Given the description of an element on the screen output the (x, y) to click on. 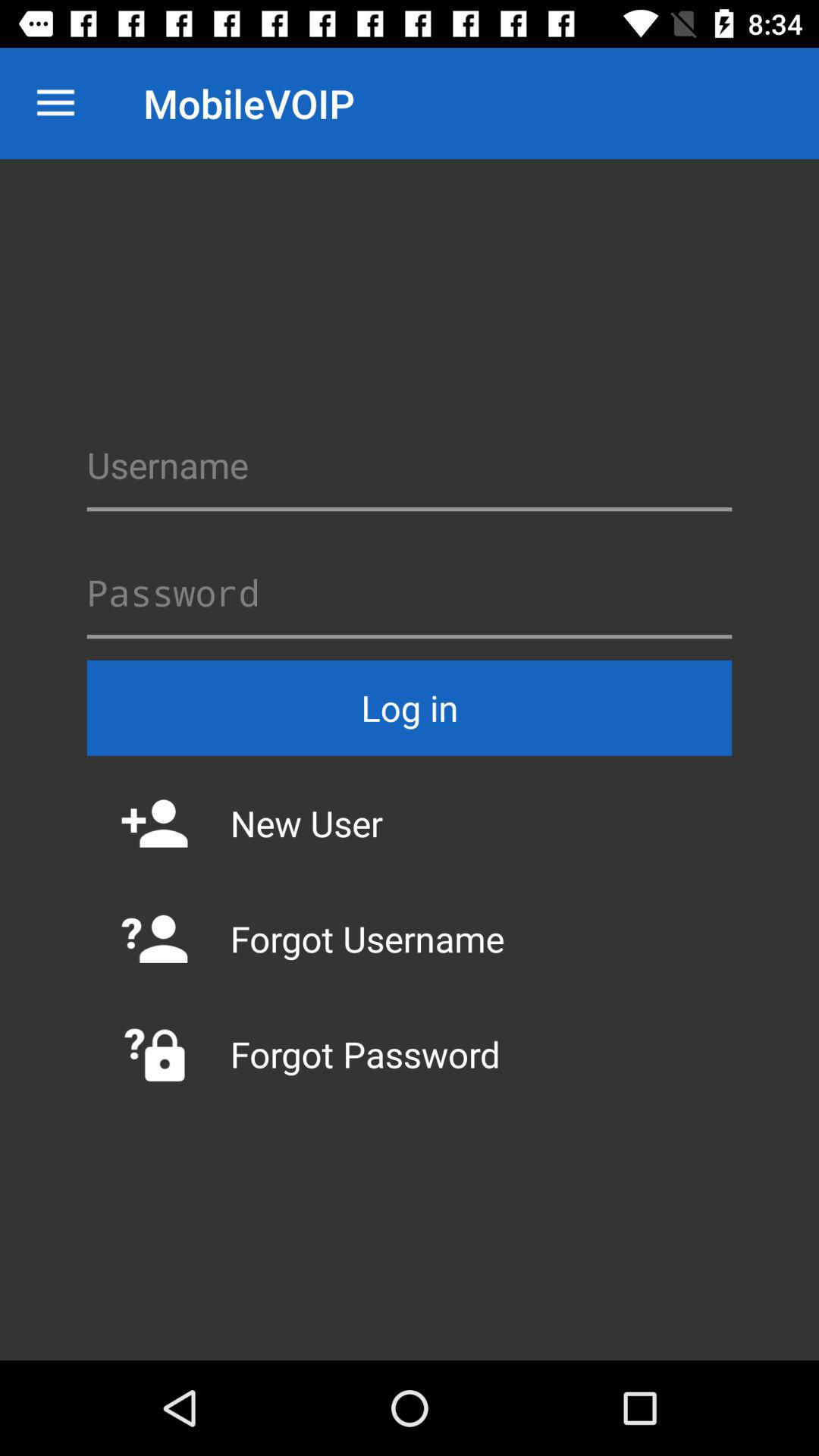
click the icon above forgot password item (409, 938)
